Given the description of an element on the screen output the (x, y) to click on. 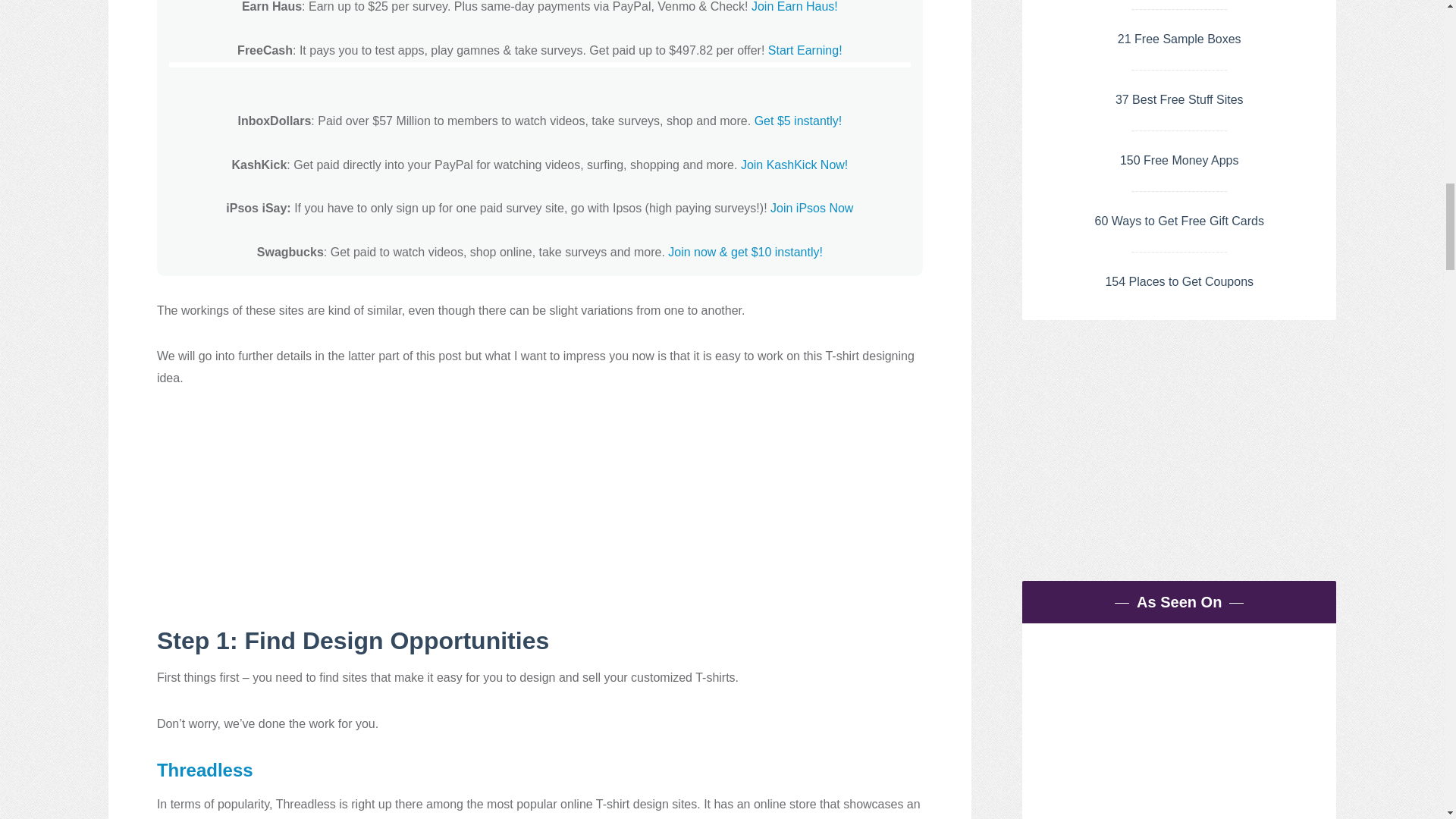
Join Earn Haus! (794, 6)
Join KashKick Now! (794, 164)
Join iPsos Now (811, 207)
Start Earning! (805, 50)
Threadless (205, 770)
